Given the description of an element on the screen output the (x, y) to click on. 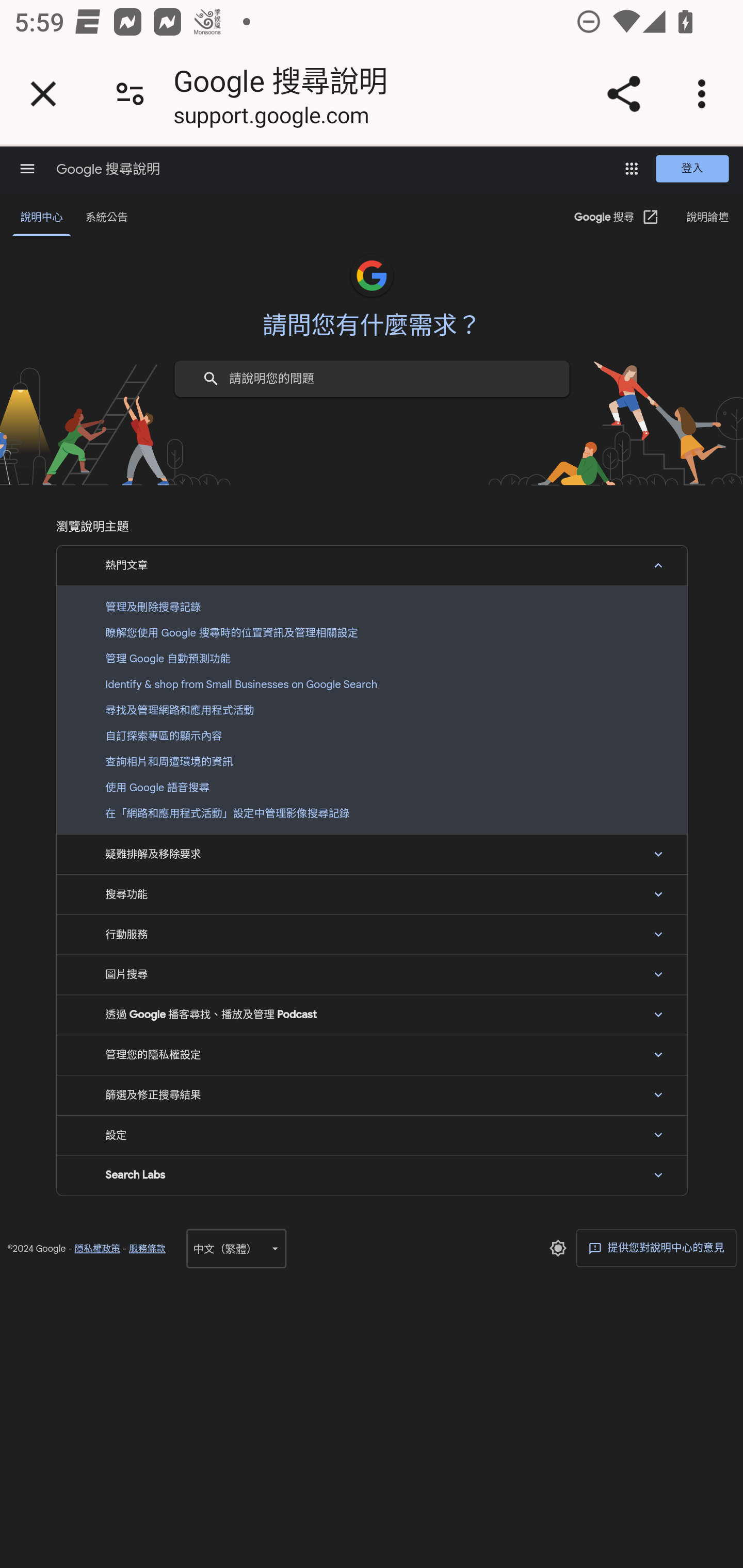
Close tab (43, 93)
Share (623, 93)
Customize and control Google Chrome (705, 93)
Connection is secure (129, 93)
support.google.com (271, 117)
主選單 (27, 168)
Google 搜尋說明 (107, 169)
Google 應用程式 (631, 168)
登入 (692, 169)
說明中心 (41, 217)
系統公告 (105, 217)
Google 搜尋 (在新視窗中開啟) Google 搜尋 (616, 217)
說明論壇 (707, 217)
搜尋 (210, 377)
熱門文章, 展開含有 9 個項目的清單 (371, 564)
管理及刪除搜尋記錄 (371, 606)
瞭解您使用 Google 搜尋時的位置資訊及管理相關設定 (371, 632)
管理 Google 自動預測功能 (371, 658)
尋找及管理網路和應用程式活動 (371, 709)
自訂探索專區的顯示內容 (371, 735)
查詢相片和周遭環境的資訊 (371, 760)
使用 Google 語音搜尋 (371, 787)
在「網路和應用程式活動」設定中管理影像搜尋記錄 (371, 812)
疑難排解及移除要求 (371, 854)
搜尋功能 (371, 894)
行動服務 (371, 934)
圖片搜尋 (371, 974)
透過 Google 播客尋找、播放及管理 Podcast (371, 1014)
管理您的隱私權設定 (371, 1054)
篩選及修正搜尋結果 (371, 1094)
設定 (371, 1134)
Search Labs (371, 1174)
選取語言 (中文（繁體）‎) (235, 1247)
 提供您對說明中心的意見 (656, 1247)
停用深色模式 (557, 1247)
隱私權政策 (97, 1247)
服務條款 (146, 1247)
